Given the description of an element on the screen output the (x, y) to click on. 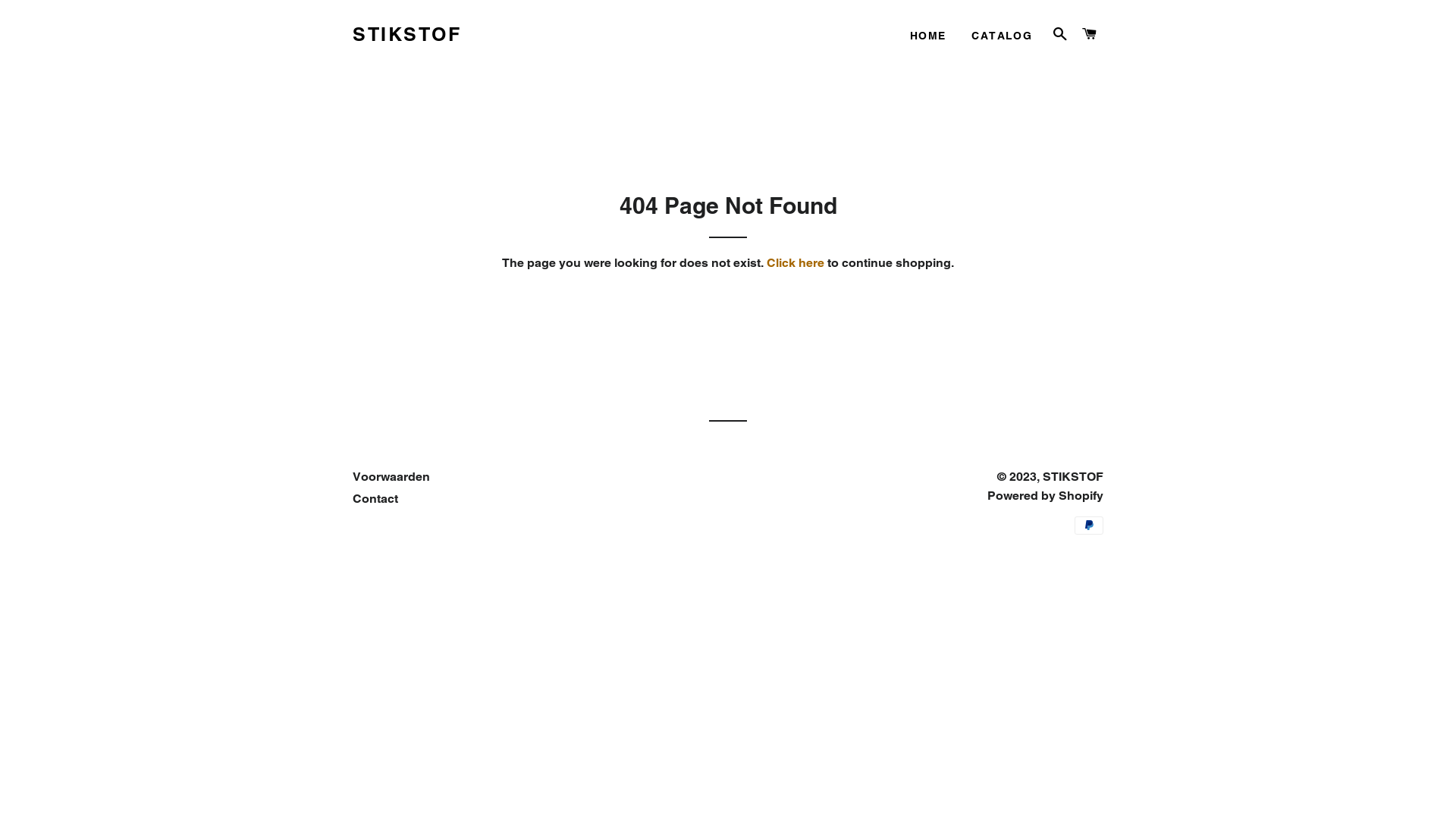
SEARCH Element type: text (1059, 33)
Voorwaarden Element type: text (390, 476)
CATALOG Element type: text (1001, 36)
CART Element type: text (1089, 33)
Contact Element type: text (375, 498)
STIKSTOF Element type: text (406, 34)
STIKSTOF Element type: text (1072, 476)
Powered by Shopify Element type: text (1045, 495)
Click here Element type: text (795, 262)
HOME Element type: text (927, 36)
